Given the description of an element on the screen output the (x, y) to click on. 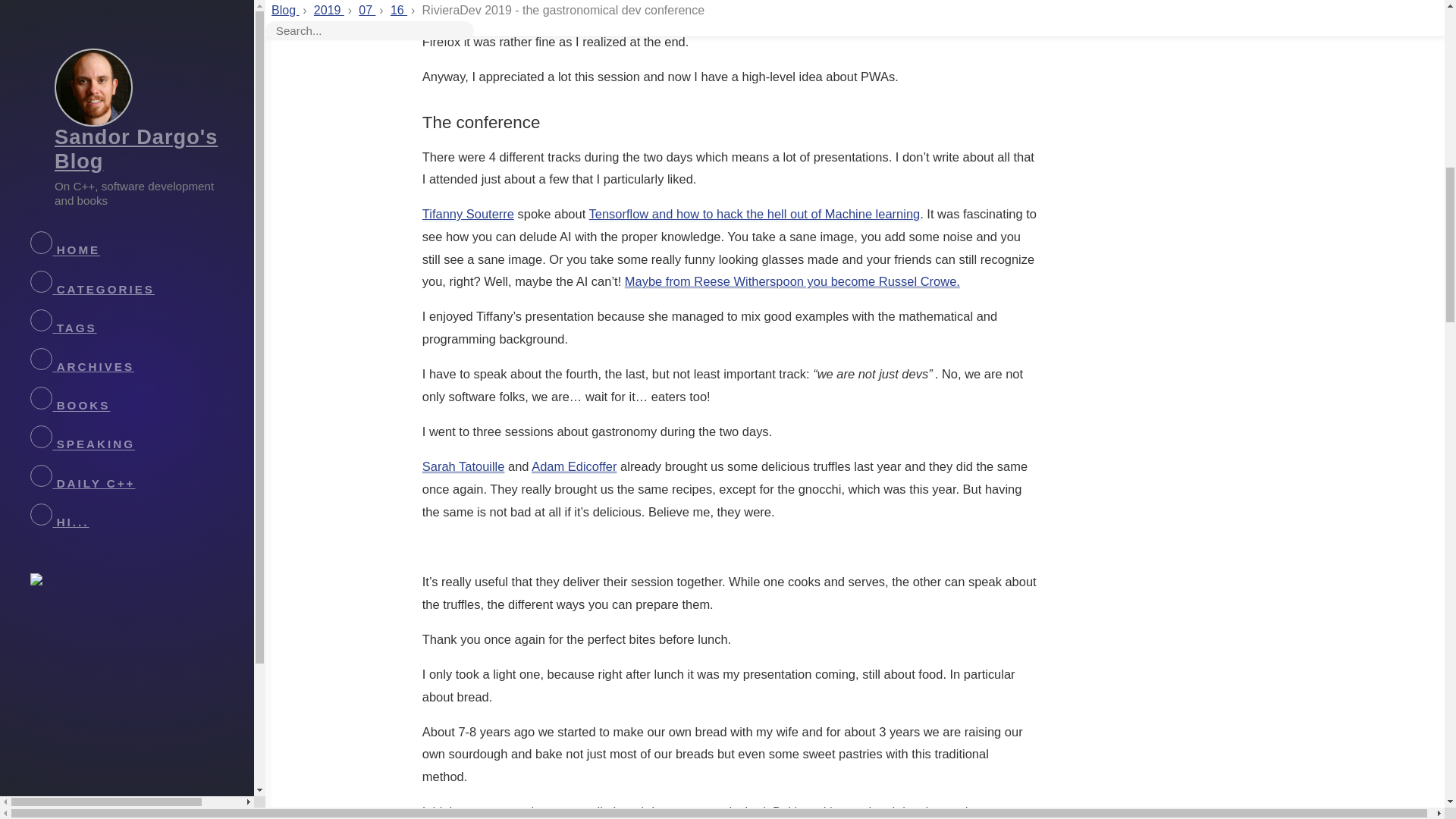
Maybe from Reese Witherspoon you become Russel Crowe. (791, 281)
Sarah Tatouille (463, 466)
Tensorflow and how to hack the hell out of Machine learning (754, 214)
Tifanny Souterre (467, 214)
Adam Edicoffer (573, 466)
